Given the description of an element on the screen output the (x, y) to click on. 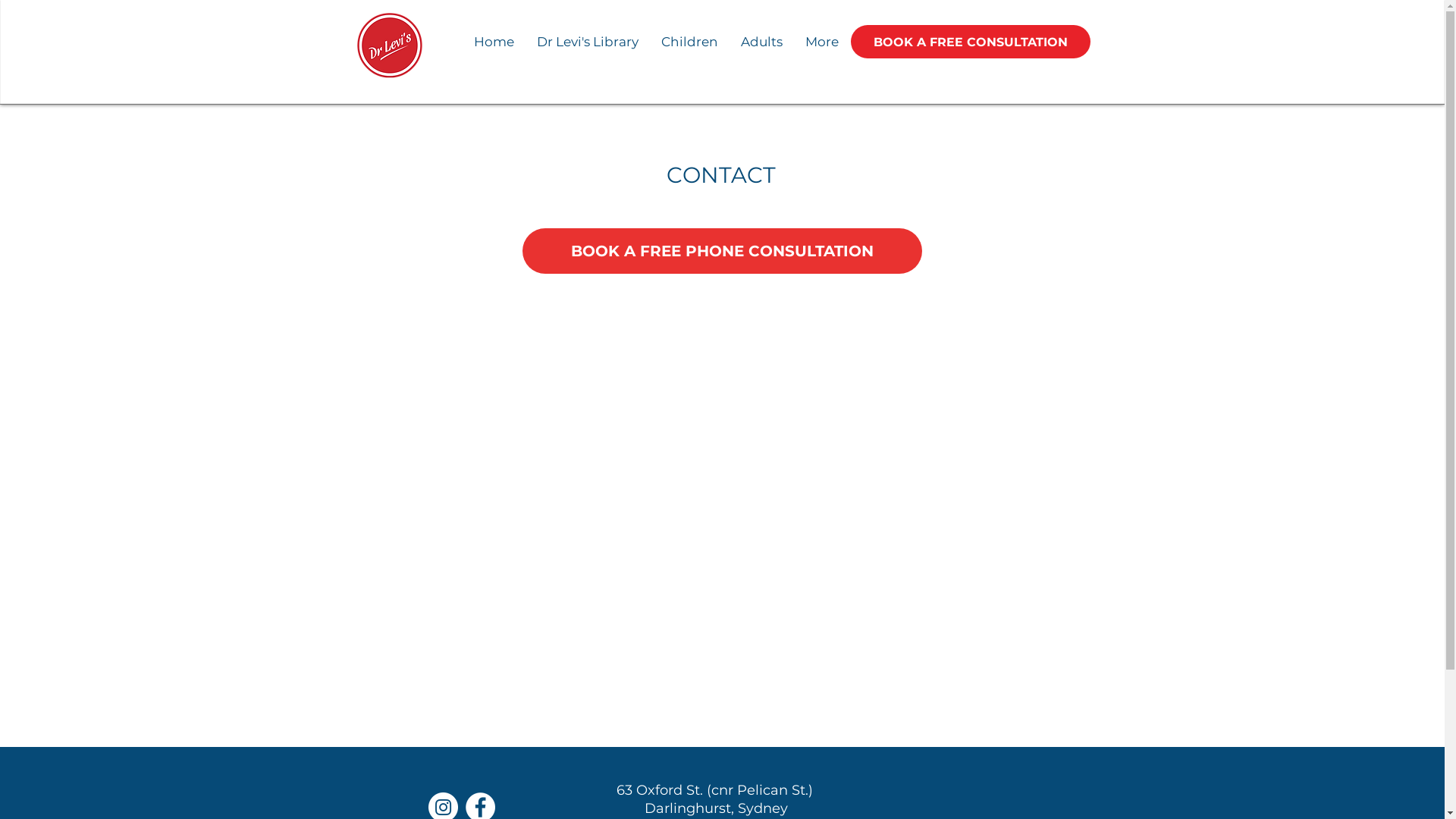
BOOK A FREE CONSULTATION Element type: text (970, 41)
BOOK A FREE PHONE CONSULTATION Element type: text (721, 250)
Dr Levi's Library Element type: text (586, 41)
Home Element type: text (493, 41)
Adults Element type: text (761, 41)
